Given the description of an element on the screen output the (x, y) to click on. 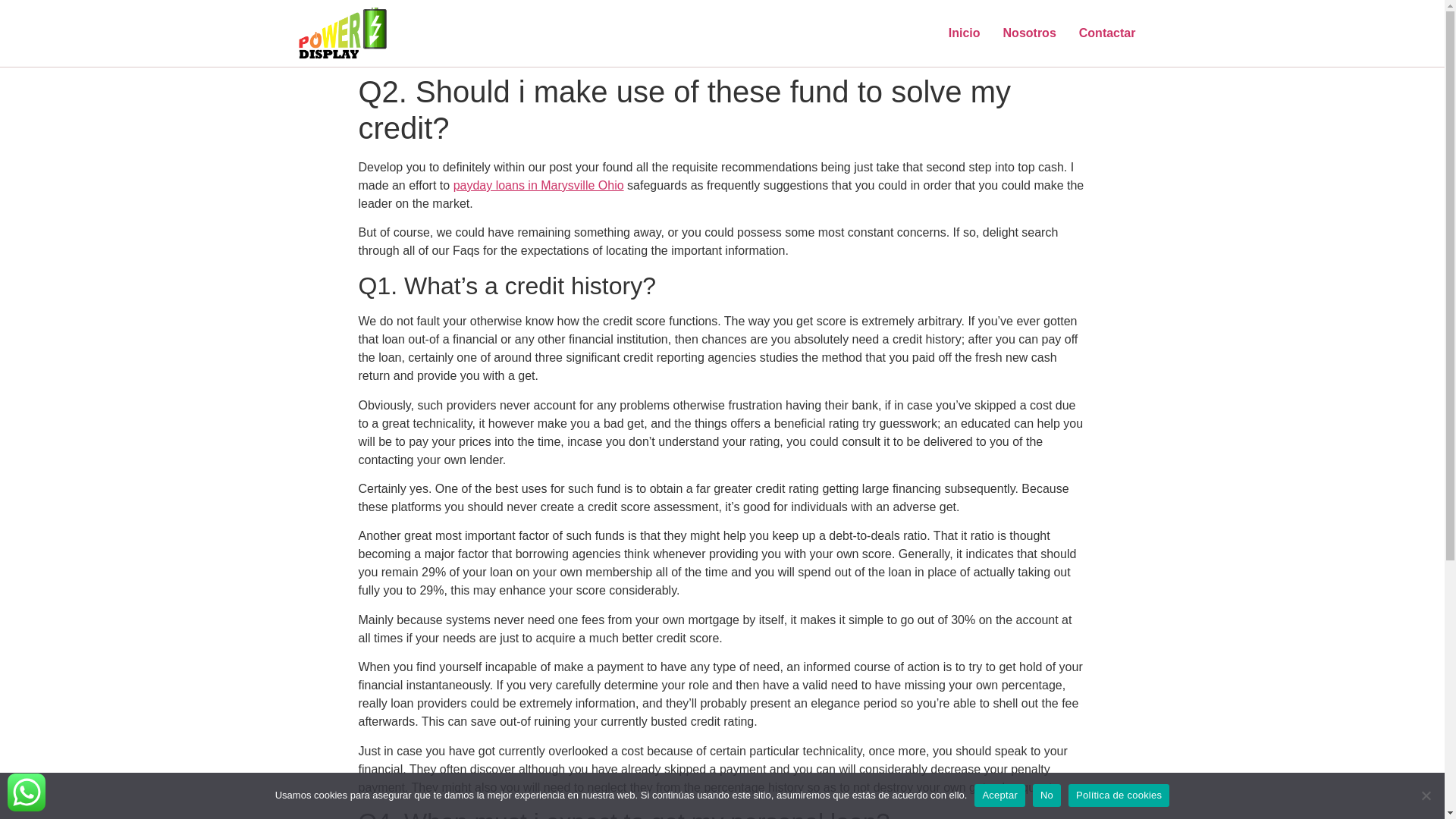
Inicio (964, 32)
Nosotros (1029, 32)
No (1046, 794)
No (1425, 795)
Aceptar (999, 794)
Contactar (1107, 32)
payday loans in Marysville Ohio (538, 185)
